Given the description of an element on the screen output the (x, y) to click on. 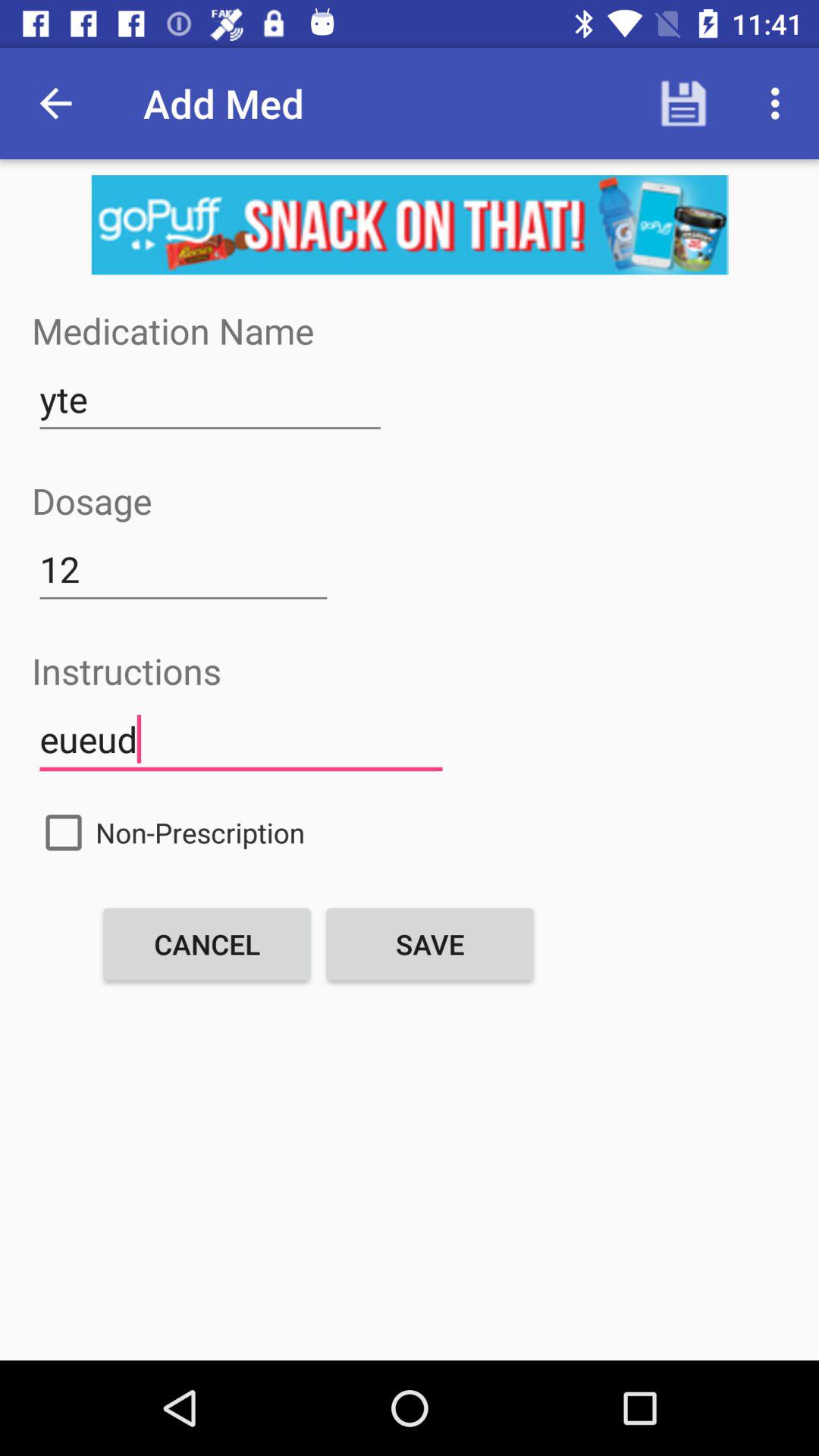
click on the cancel button (206, 943)
click on the options icon (779, 103)
tap on the save option just right to cancel (429, 943)
click on the text area which says instructions (240, 739)
